Given the description of an element on the screen output the (x, y) to click on. 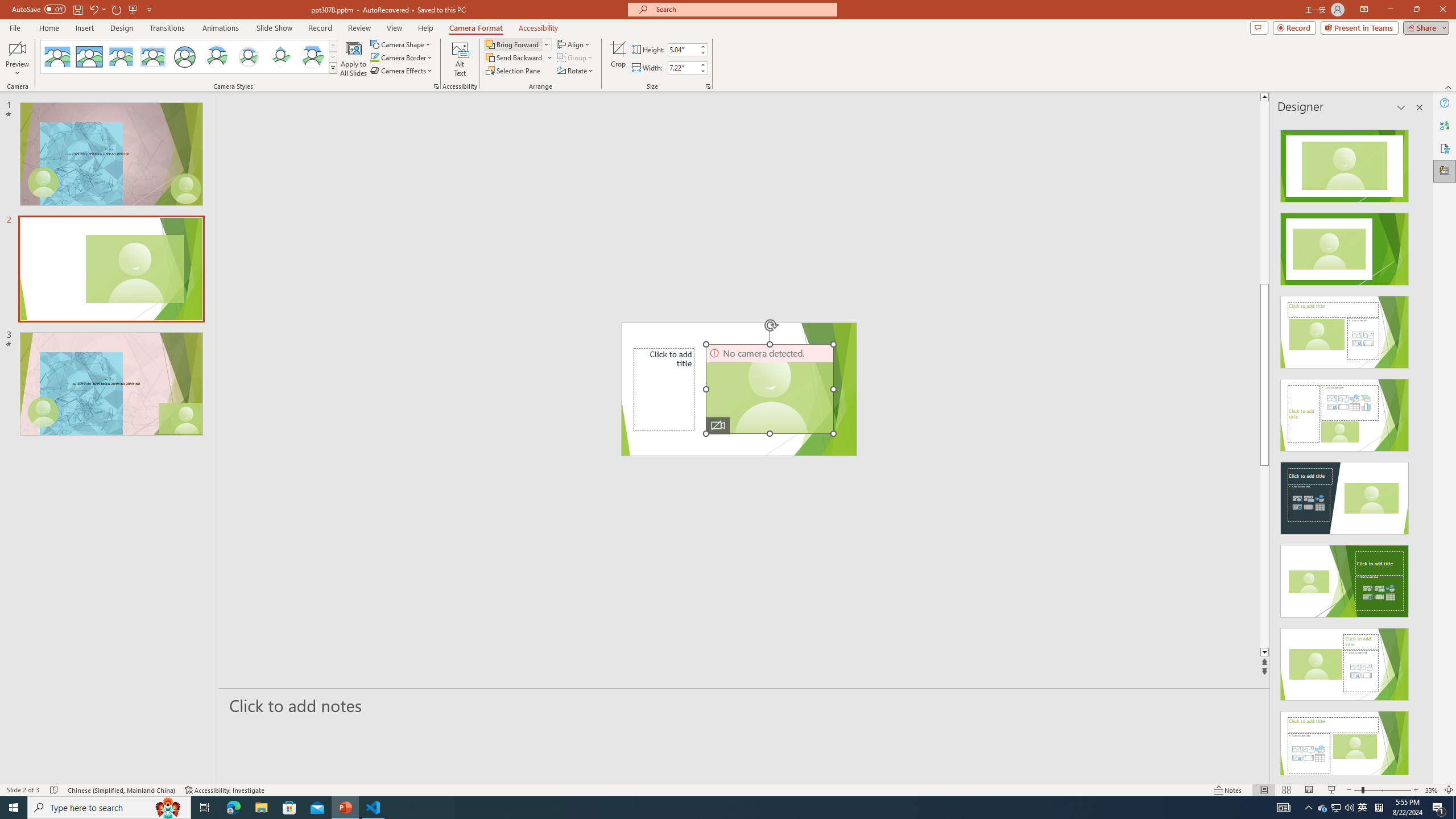
Simple Frame Circle (184, 56)
Soft Edge Rectangle (152, 56)
